Given the description of an element on the screen output the (x, y) to click on. 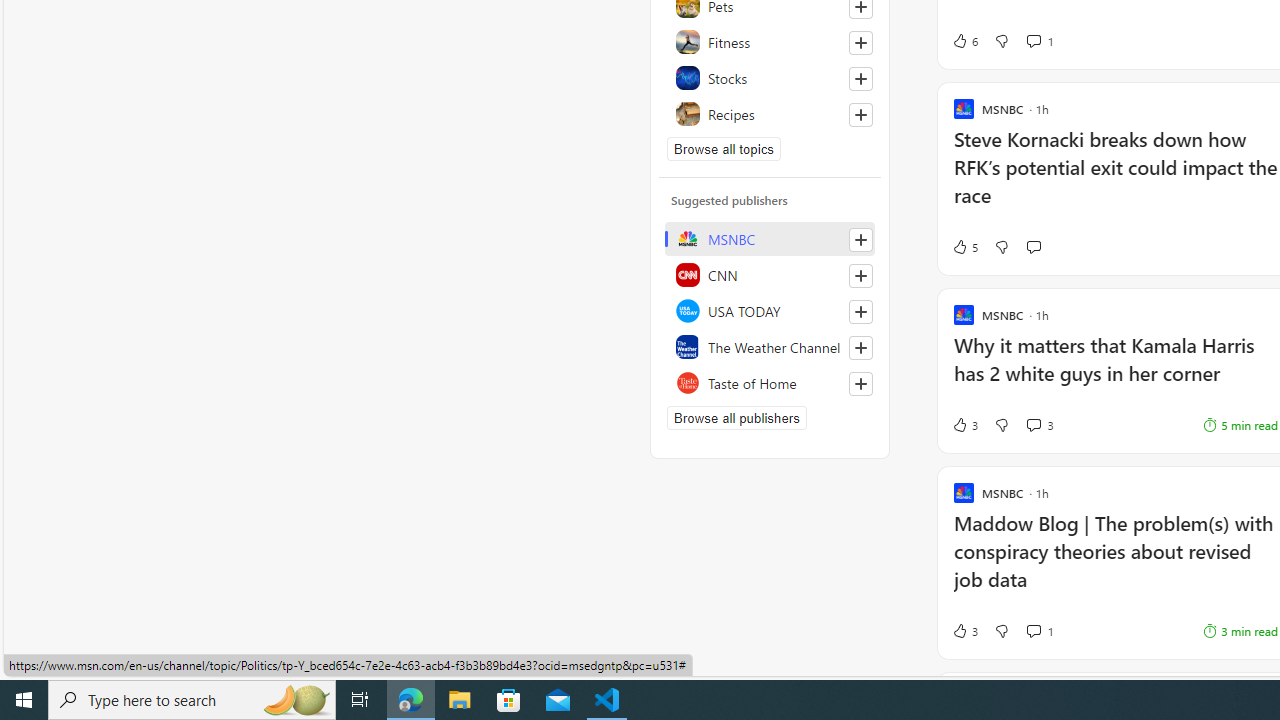
6 Like (964, 40)
CNN (770, 274)
View comments 1 Comment (1033, 630)
Follow this topic (860, 114)
The Weather Channel (770, 346)
USA TODAY (770, 310)
Follow this topic (860, 114)
Follow this source (860, 384)
View comments 1 Comment (1039, 630)
Stocks (770, 78)
Recipes (770, 114)
Follow this source (860, 384)
